Given the description of an element on the screen output the (x, y) to click on. 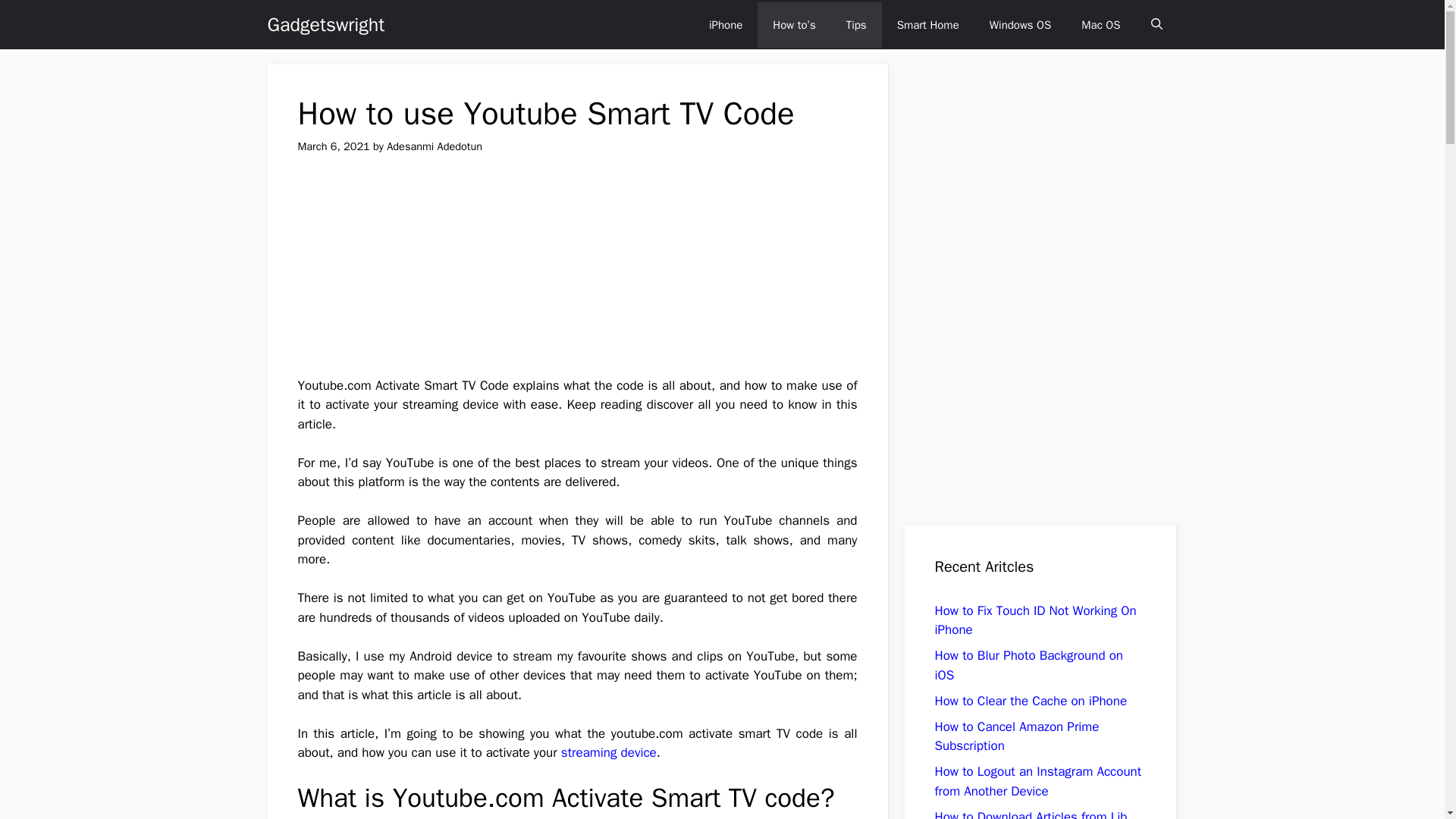
How to Blur Photo Background on iOS (1028, 665)
Gadgetswright (325, 24)
How to Logout an Instagram Account from Another Device (1037, 781)
Adesanmi Adedotun (434, 146)
How to Cancel Amazon Prime Subscription (1016, 736)
Mac OS (1100, 23)
How to Fix Touch ID Not Working On iPhone (1034, 619)
streaming device (608, 752)
Smart Home (928, 23)
How to Clear the Cache on iPhone (1030, 700)
